Given the description of an element on the screen output the (x, y) to click on. 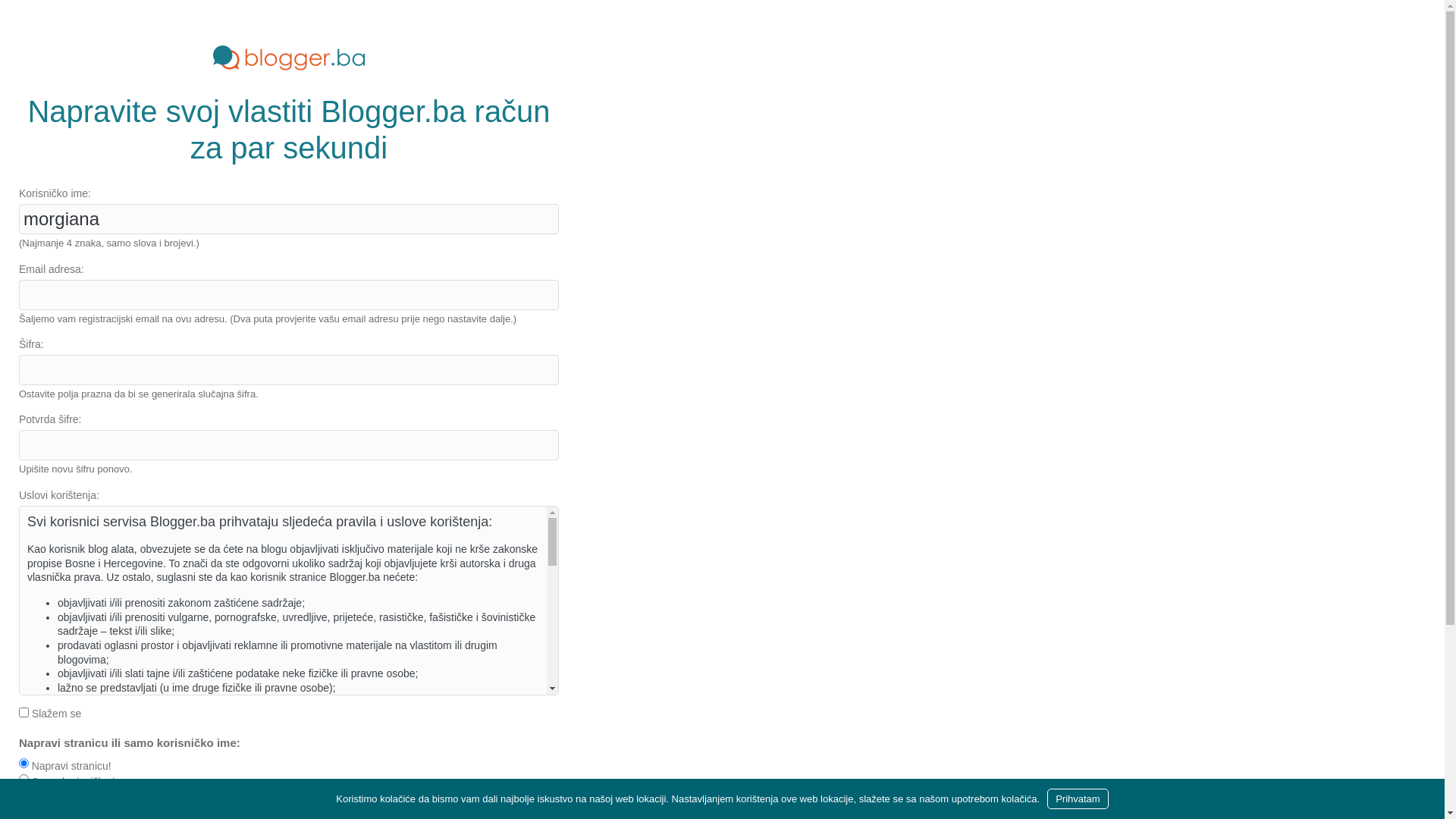
Prihvatam Element type: text (1077, 798)
